Given the description of an element on the screen output the (x, y) to click on. 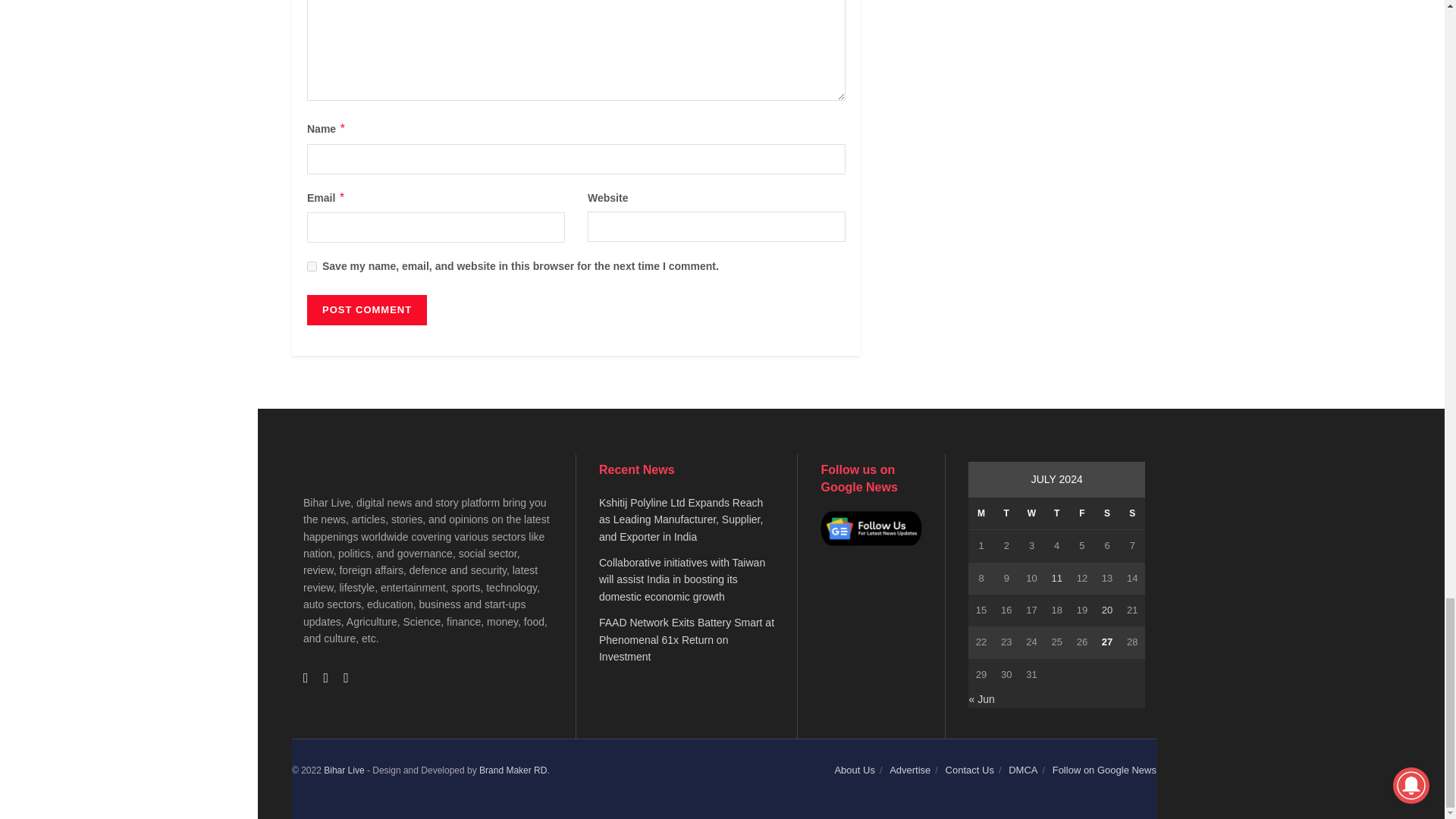
Brand Maker RD (513, 769)
yes (312, 266)
Post Comment (366, 309)
Bihar Live (343, 769)
